Given the description of an element on the screen output the (x, y) to click on. 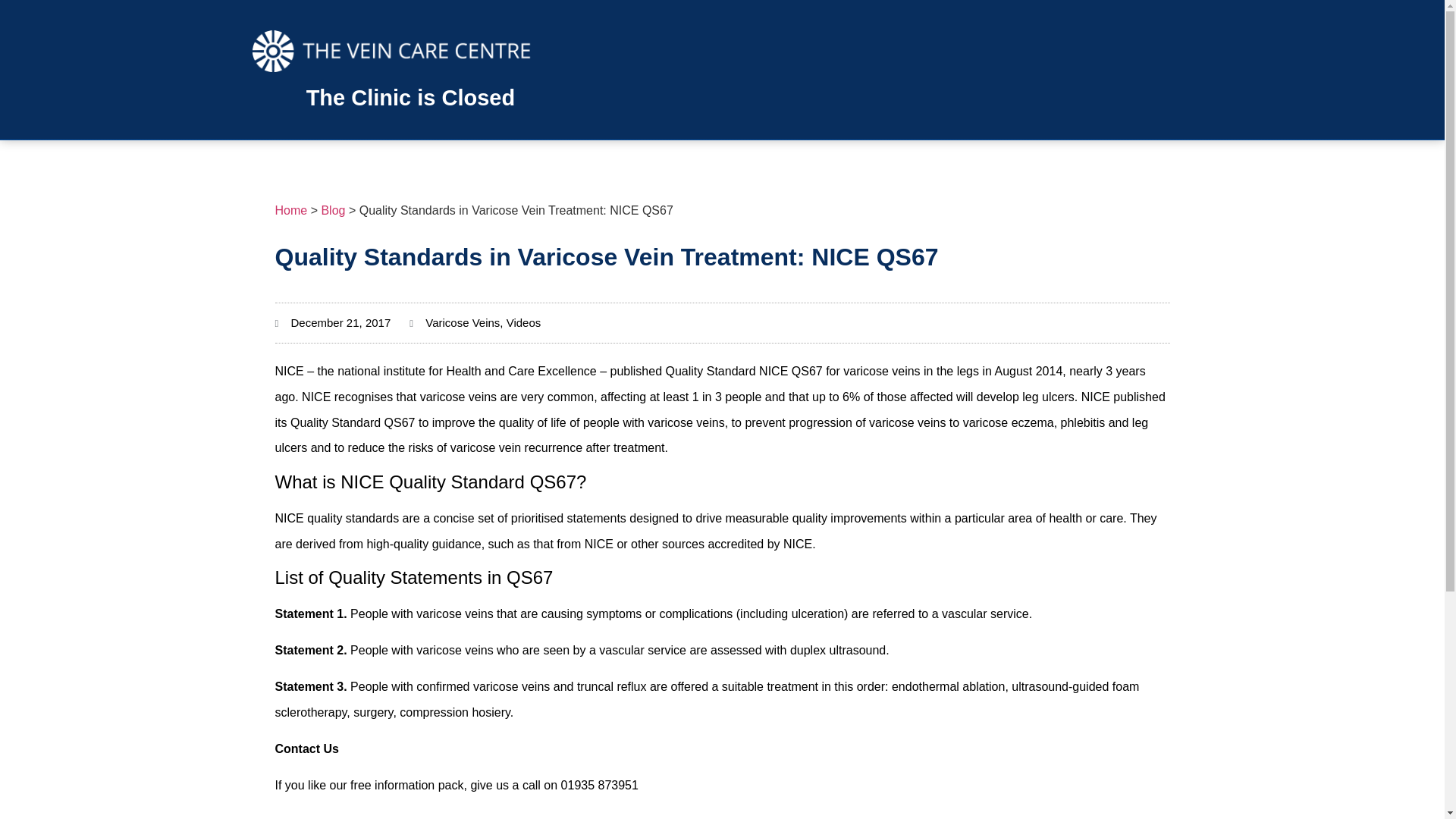
Go to Home (291, 210)
Go to Blog. (332, 210)
Videos (523, 322)
Blog (332, 210)
December 21, 2017 (332, 323)
Home (291, 210)
Varicose Veins (462, 322)
